Given the description of an element on the screen output the (x, y) to click on. 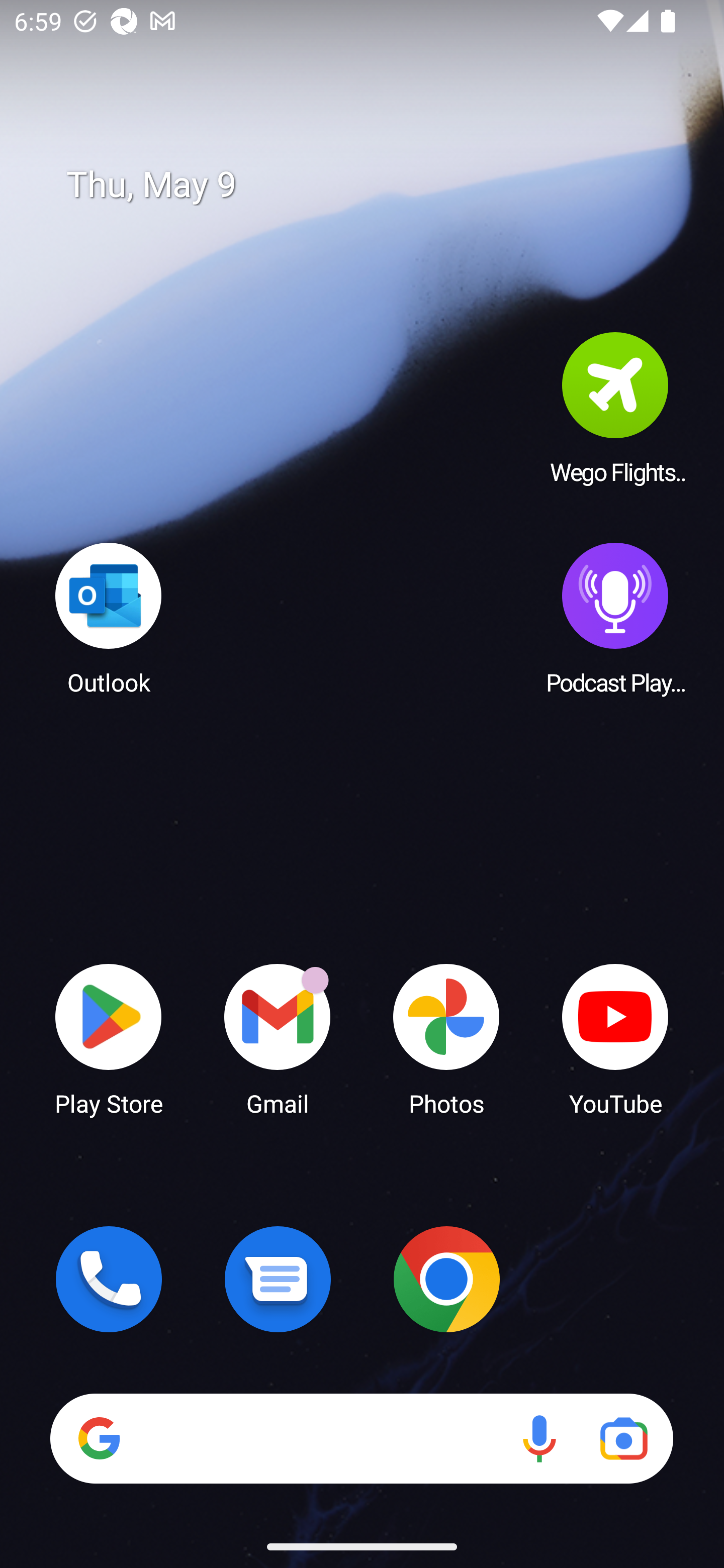
Thu, May 9 (375, 184)
Wego Flights & Hotels (615, 407)
Outlook (108, 617)
Podcast Player (615, 617)
Play Store (108, 1038)
Gmail Gmail has 18 notifications (277, 1038)
Photos (445, 1038)
YouTube (615, 1038)
Phone (108, 1279)
Messages (277, 1279)
Chrome (446, 1279)
Search Voice search Google Lens (361, 1438)
Voice search (539, 1438)
Google Lens (623, 1438)
